Given the description of an element on the screen output the (x, y) to click on. 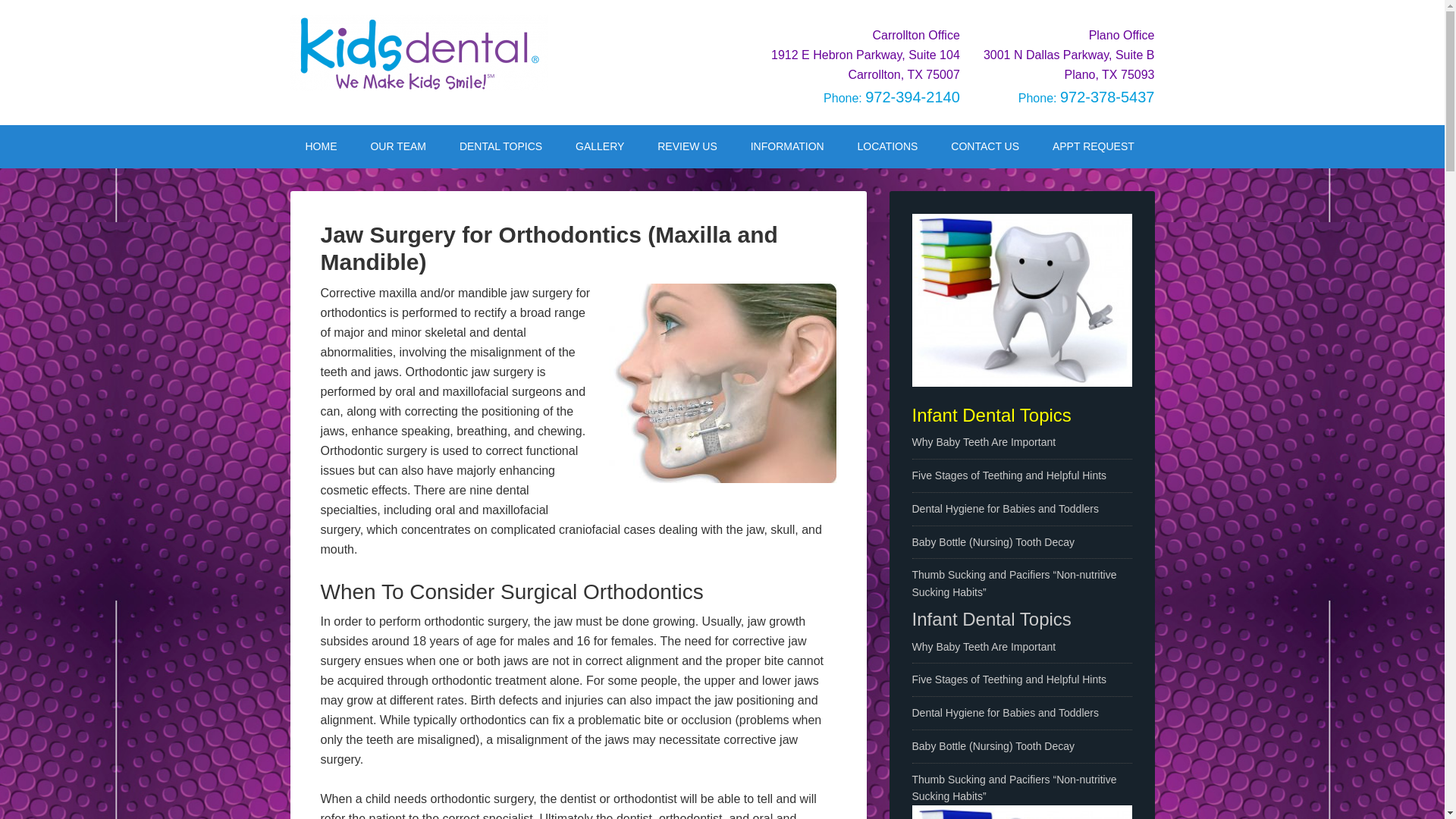
kidsdental dental topics (1021, 299)
OUR TEAM (398, 145)
DENTAL TOPICS (500, 145)
972-378-5437 (1106, 96)
mandibular osteotomy for jaw lengtheneing (721, 383)
HOME (320, 145)
Kids First Dental Visit (787, 145)
kidsdental dental topics (1021, 812)
972-394-2140 (911, 96)
